Given the description of an element on the screen output the (x, y) to click on. 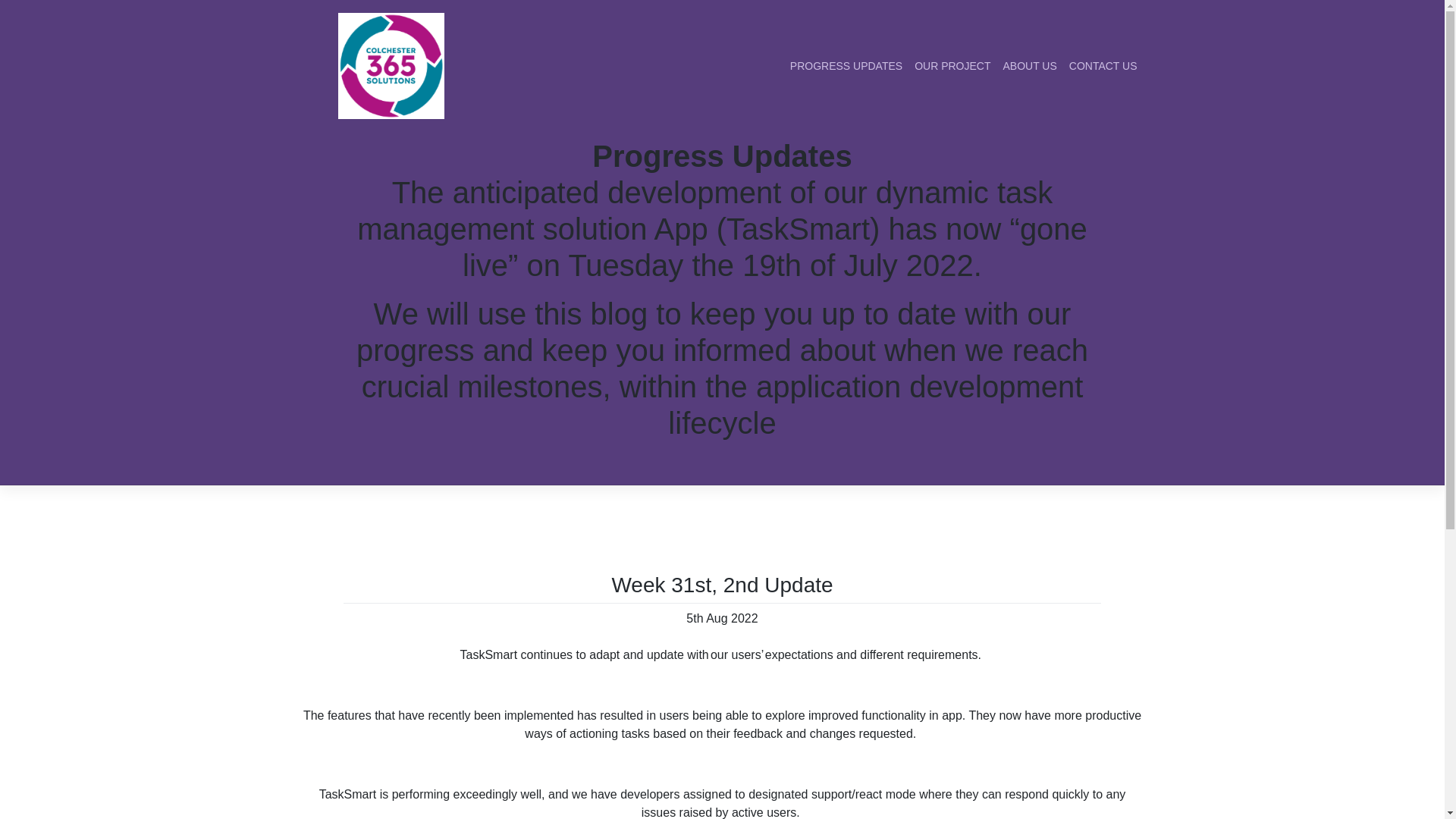
ABOUT US (1028, 65)
PROGRESS UPDATES (846, 65)
PROGRESS UPDATES (846, 65)
ABOUT US (1028, 65)
OUR PROJECT (951, 65)
OUR PROJECT (951, 65)
CONTACT US (1102, 65)
CONTACT US (1102, 65)
